Given the description of an element on the screen output the (x, y) to click on. 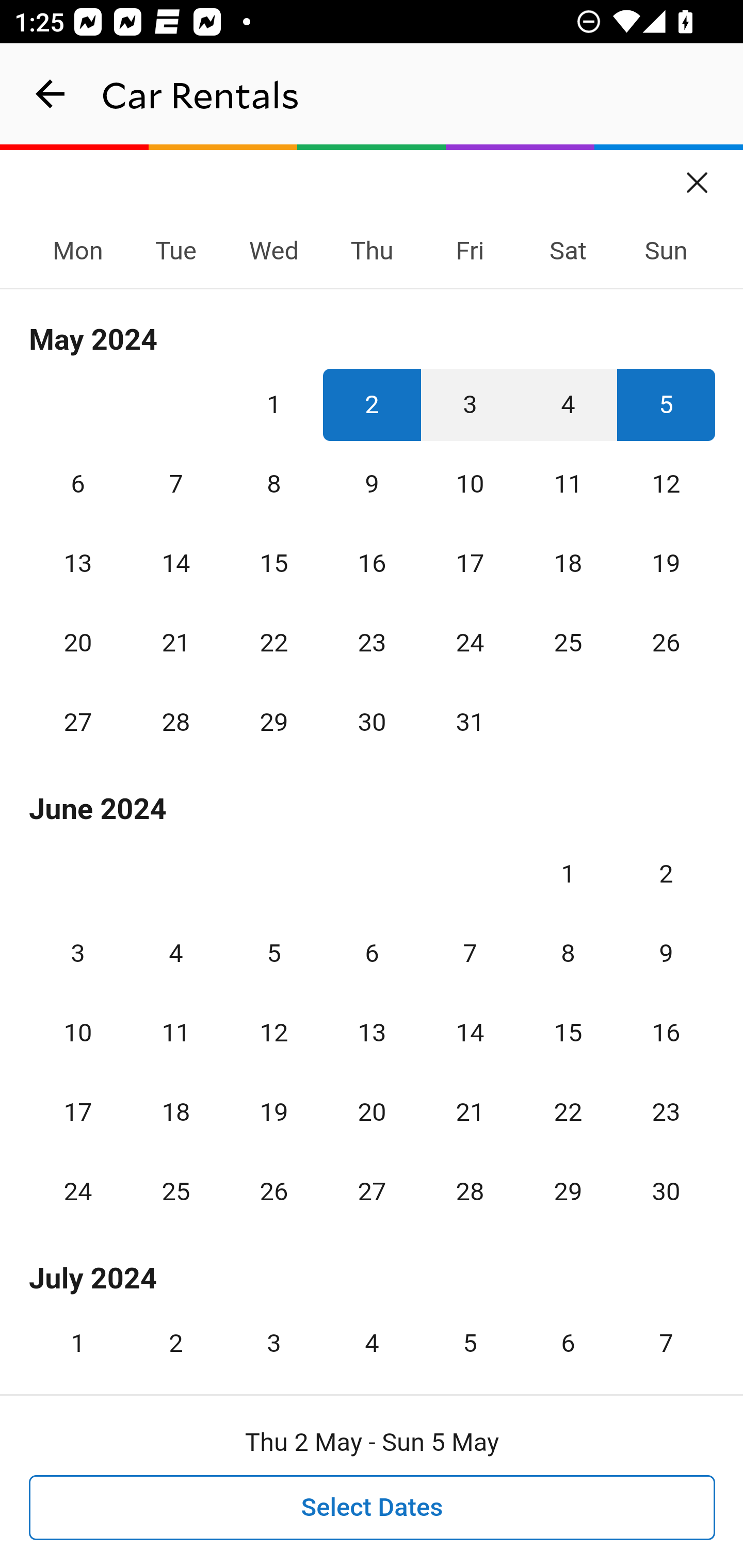
navigation_button (50, 93)
Close (697, 176)
1 May 2024 (273, 404)
2 May 2024 (371, 404)
3 May 2024 (470, 404)
4 May 2024 (567, 404)
5 May 2024 (665, 404)
6 May 2024 (77, 484)
7 May 2024 (175, 484)
8 May 2024 (273, 484)
9 May 2024 (371, 484)
10 May 2024 (470, 484)
11 May 2024 (567, 484)
12 May 2024 (665, 484)
13 May 2024 (77, 563)
14 May 2024 (175, 563)
15 May 2024 (273, 563)
16 May 2024 (371, 563)
17 May 2024 (470, 563)
18 May 2024 (567, 563)
19 May 2024 (665, 563)
20 May 2024 (77, 642)
21 May 2024 (175, 642)
22 May 2024 (273, 642)
23 May 2024 (371, 642)
24 May 2024 (470, 642)
25 May 2024 (567, 642)
26 May 2024 (665, 642)
27 May 2024 (77, 722)
28 May 2024 (175, 722)
29 May 2024 (273, 722)
30 May 2024 (371, 722)
31 May 2024 (470, 722)
1 June 2024 (567, 873)
2 June 2024 (665, 873)
3 June 2024 (77, 952)
4 June 2024 (175, 952)
5 June 2024 (273, 952)
6 June 2024 (371, 952)
7 June 2024 (470, 952)
8 June 2024 (567, 952)
9 June 2024 (665, 952)
10 June 2024 (77, 1032)
11 June 2024 (175, 1032)
12 June 2024 (273, 1032)
13 June 2024 (371, 1032)
14 June 2024 (470, 1032)
15 June 2024 (567, 1032)
16 June 2024 (665, 1032)
17 June 2024 (77, 1112)
18 June 2024 (175, 1112)
19 June 2024 (273, 1112)
20 June 2024 (371, 1112)
21 June 2024 (470, 1112)
22 June 2024 (567, 1112)
23 June 2024 (665, 1112)
24 June 2024 (77, 1191)
25 June 2024 (175, 1191)
26 June 2024 (273, 1191)
27 June 2024 (371, 1191)
28 June 2024 (470, 1191)
29 June 2024 (567, 1191)
30 June 2024 (665, 1191)
1 July 2024 (77, 1336)
2 July 2024 (175, 1336)
3 July 2024 (273, 1336)
4 July 2024 (371, 1336)
5 July 2024 (470, 1336)
6 July 2024 (567, 1336)
7 July 2024 (665, 1336)
Select Dates (372, 1508)
